Given the description of an element on the screen output the (x, y) to click on. 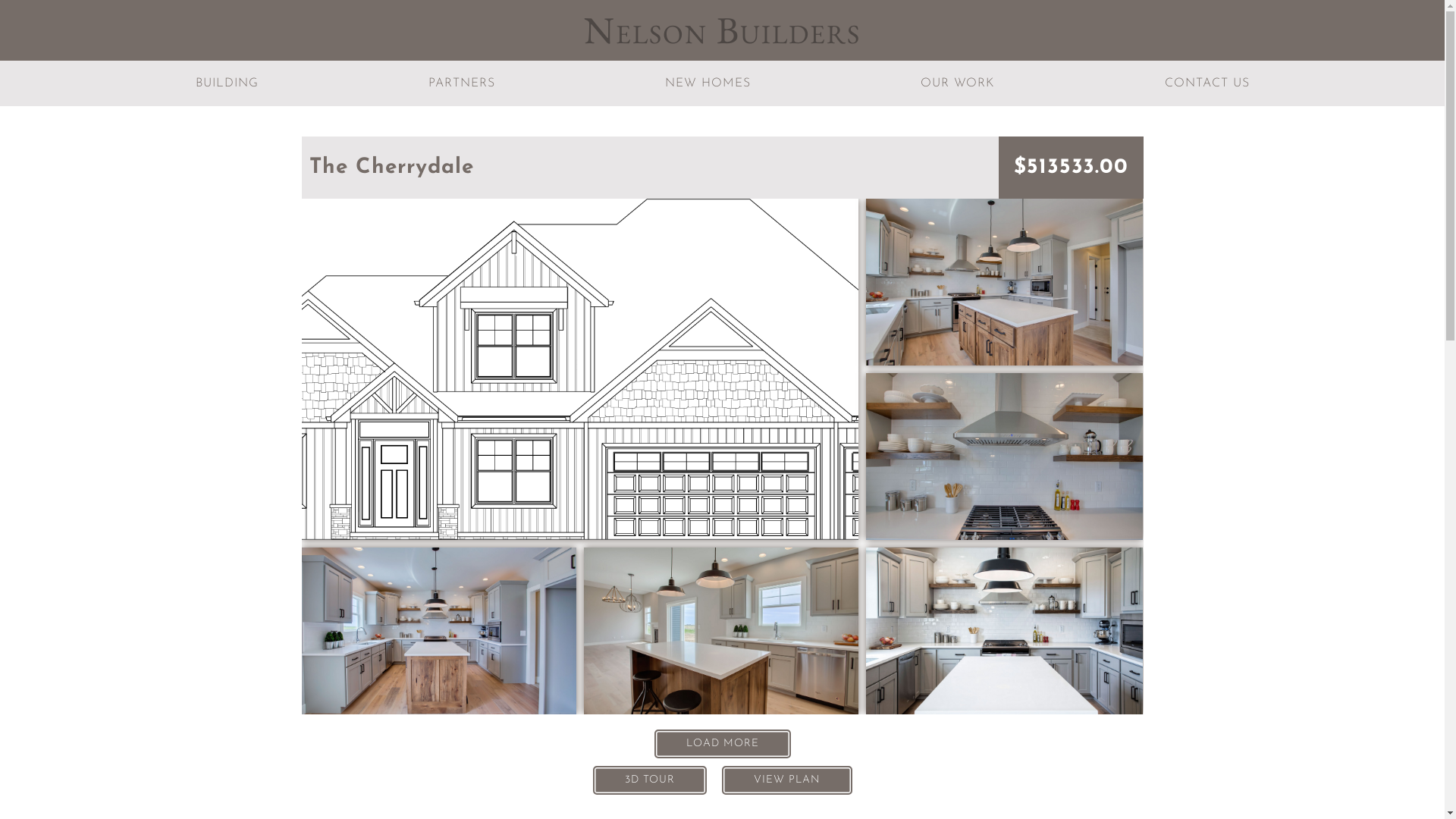
3D TOUR Element type: text (649, 779)
PARTNERS Element type: text (461, 83)
OUR WORK Element type: text (957, 83)
VIEW PLAN Element type: text (786, 779)
BUILDING Element type: text (227, 83)
LOAD MORE Element type: text (721, 743)
NEW HOMES Element type: text (707, 83)
CONTACT US Element type: text (1207, 83)
